Given the description of an element on the screen output the (x, y) to click on. 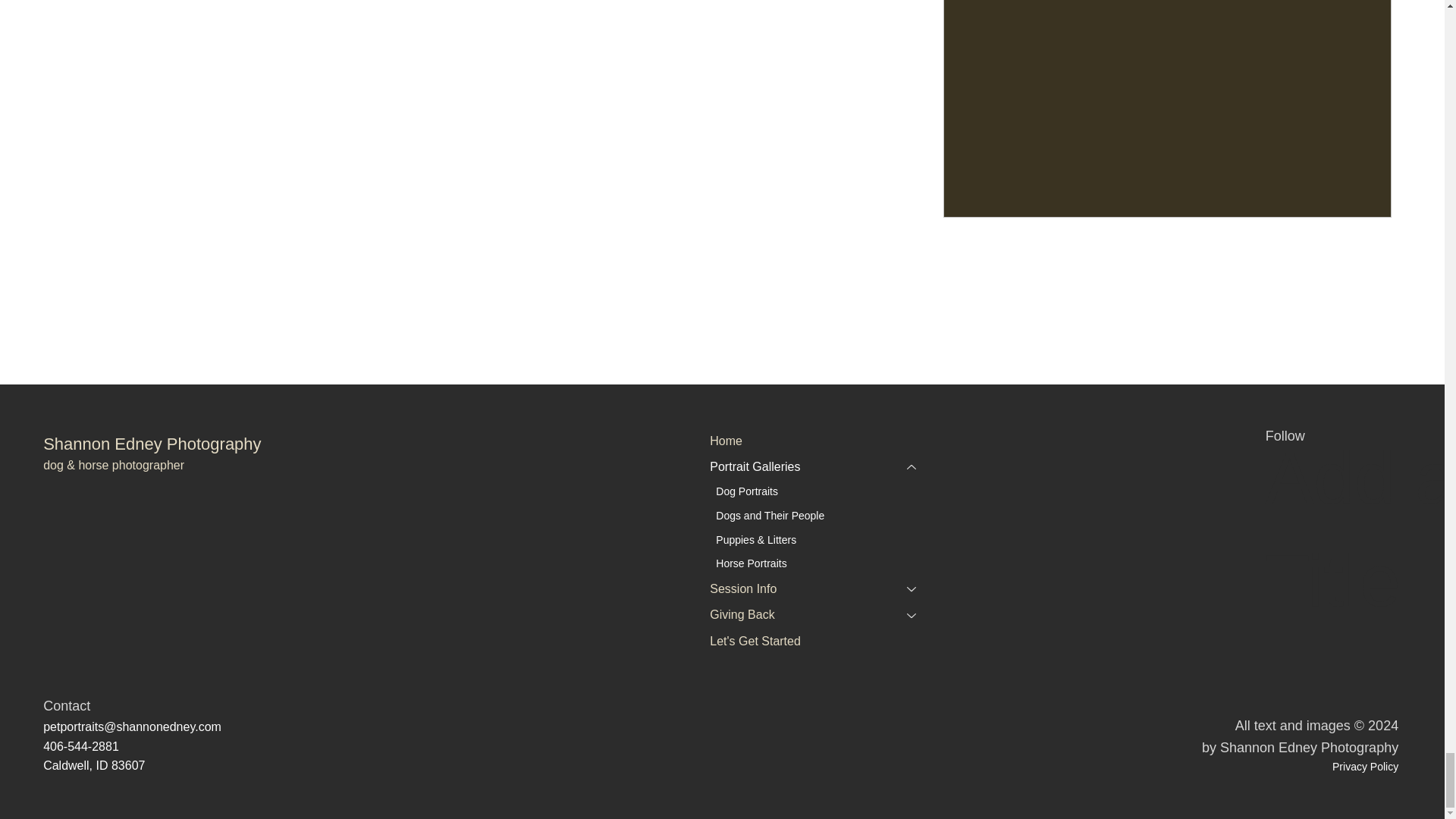
Session Info (801, 588)
Home (820, 441)
Let's Get Started (820, 641)
Dogs and Their People (820, 516)
Portrait Galleries (801, 466)
Shannon Edney Photography (151, 443)
Giving Back (801, 614)
406-544-2881 (81, 746)
Horse Portraits (820, 564)
Dog Portraits (820, 491)
